Given the description of an element on the screen output the (x, y) to click on. 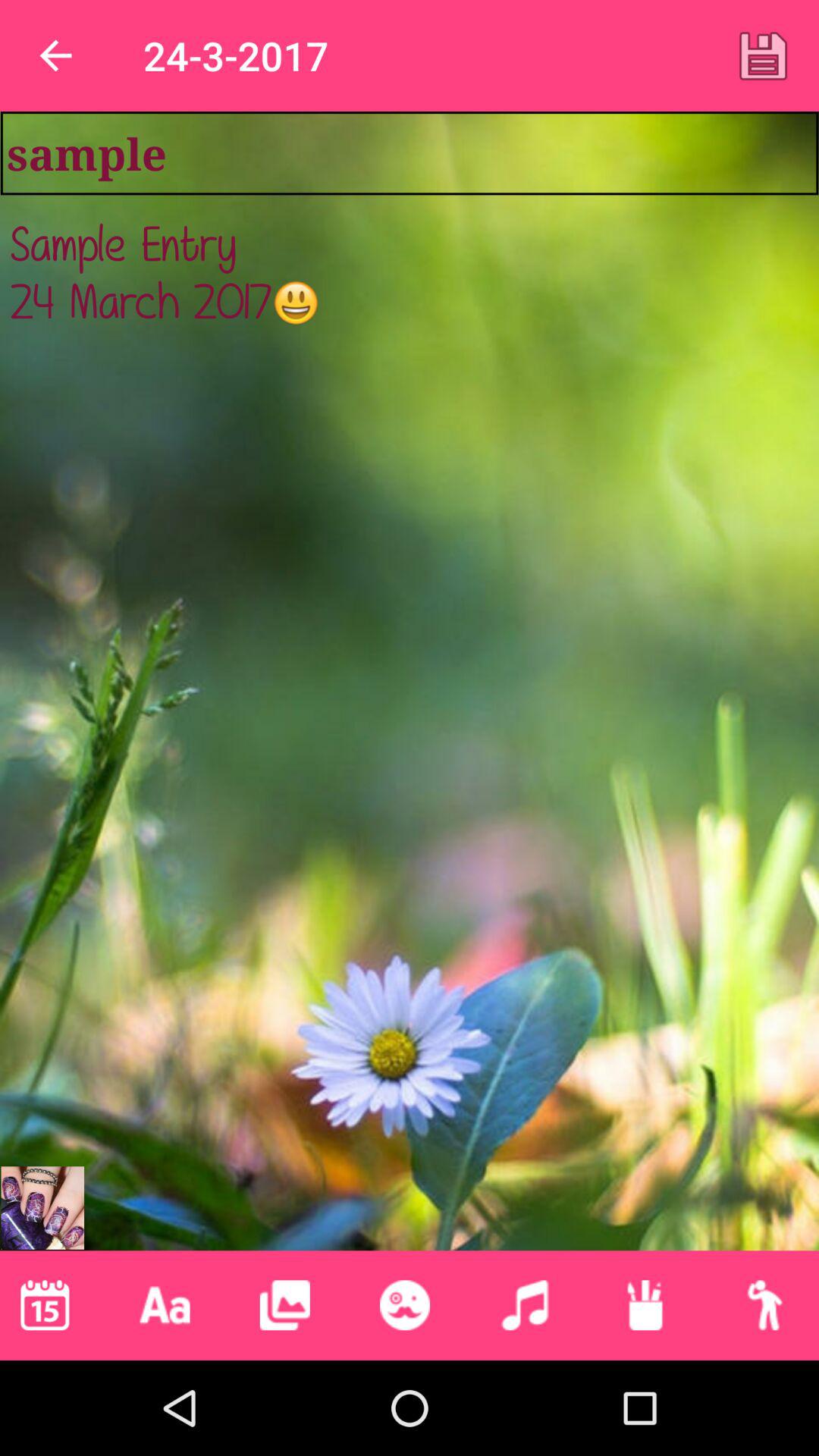
choose icon below the sample entry 24 item (764, 1305)
